Given the description of an element on the screen output the (x, y) to click on. 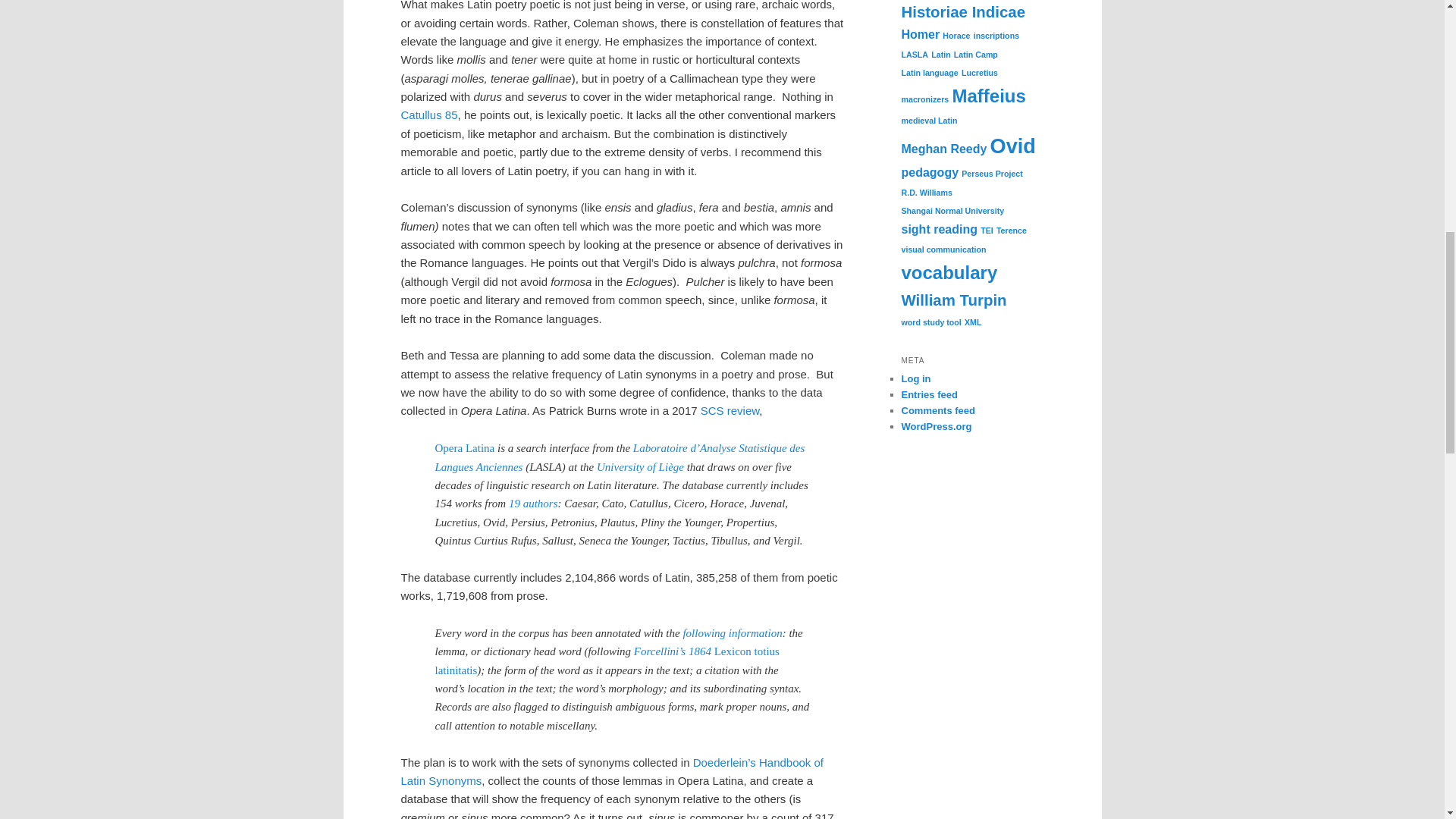
19 authors (532, 503)
Catullus 85 (428, 114)
following information (731, 633)
SCS review (730, 410)
Opera Latina (465, 448)
